Given the description of an element on the screen output the (x, y) to click on. 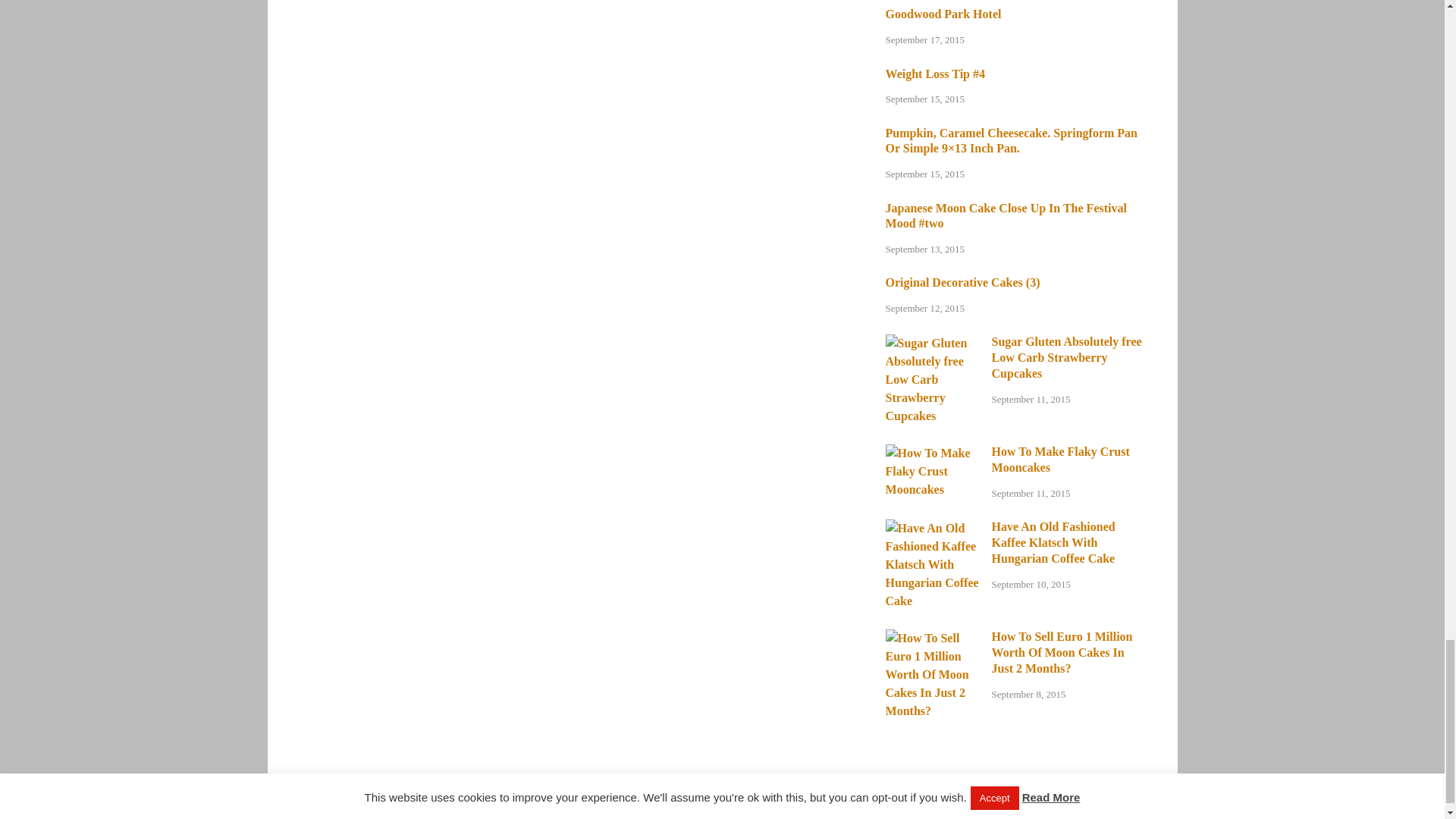
How To Make Flaky Crust Mooncakes (932, 452)
Sugar Gluten Absolutely free Low Carb Strawberry Cupcakes (932, 342)
